Given the description of an element on the screen output the (x, y) to click on. 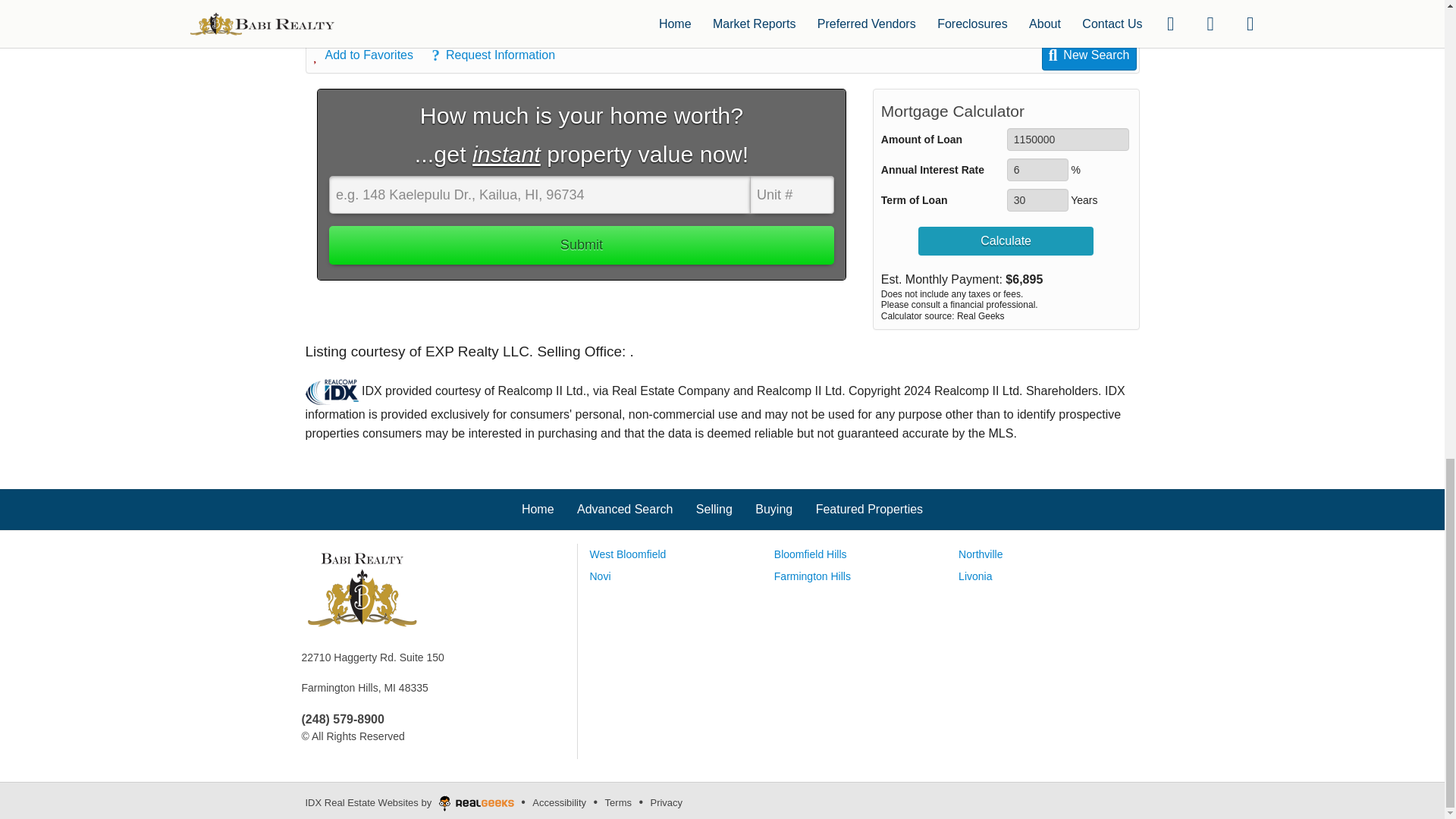
1150000 (1068, 138)
30 (1037, 200)
6 (1037, 169)
